Given the description of an element on the screen output the (x, y) to click on. 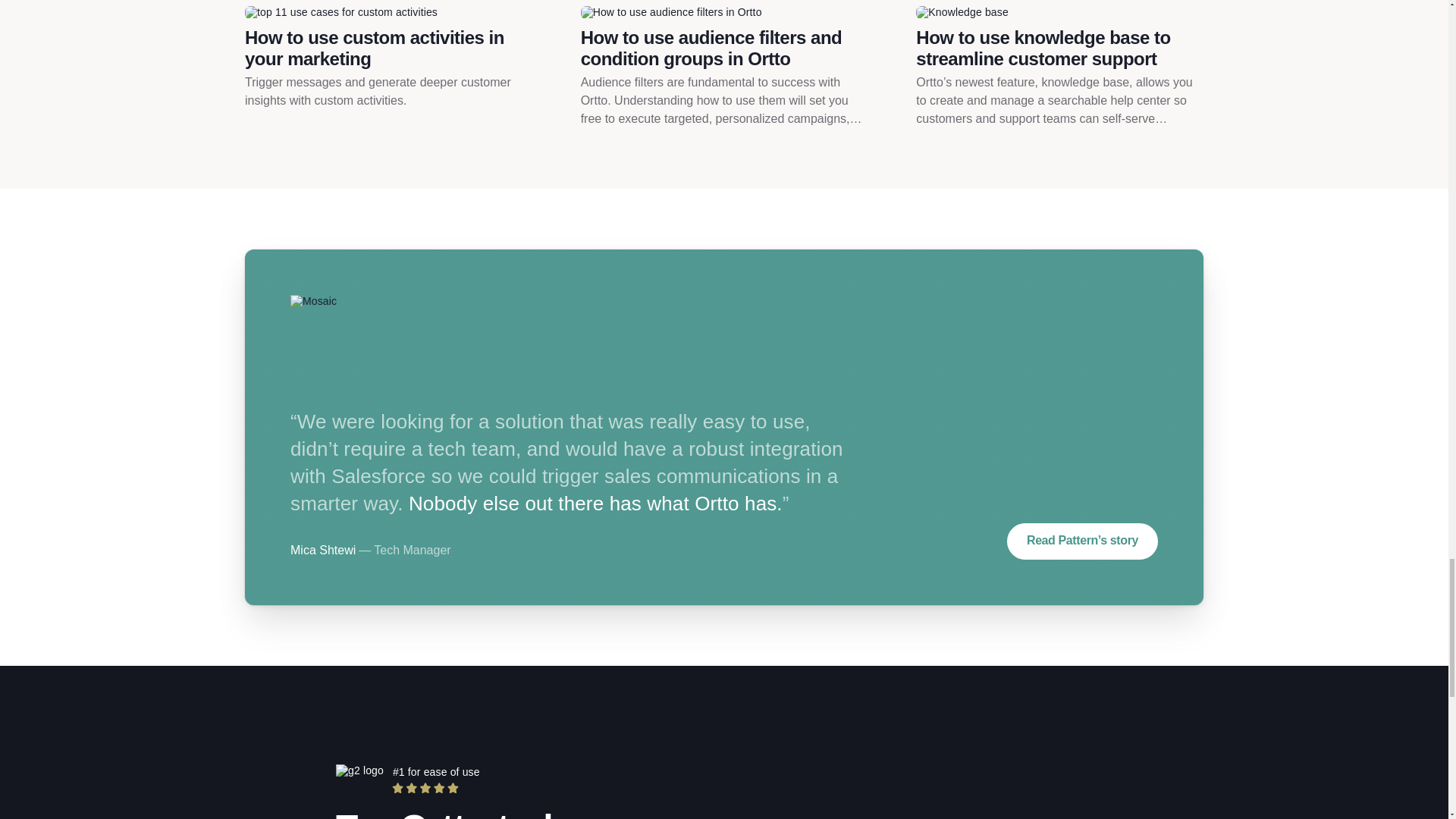
How to use custom activities in your marketing (388, 48)
How to use knowledge base to streamline customer support (1059, 48)
How to use audience filters and condition groups in Ortto (723, 48)
